Given the description of an element on the screen output the (x, y) to click on. 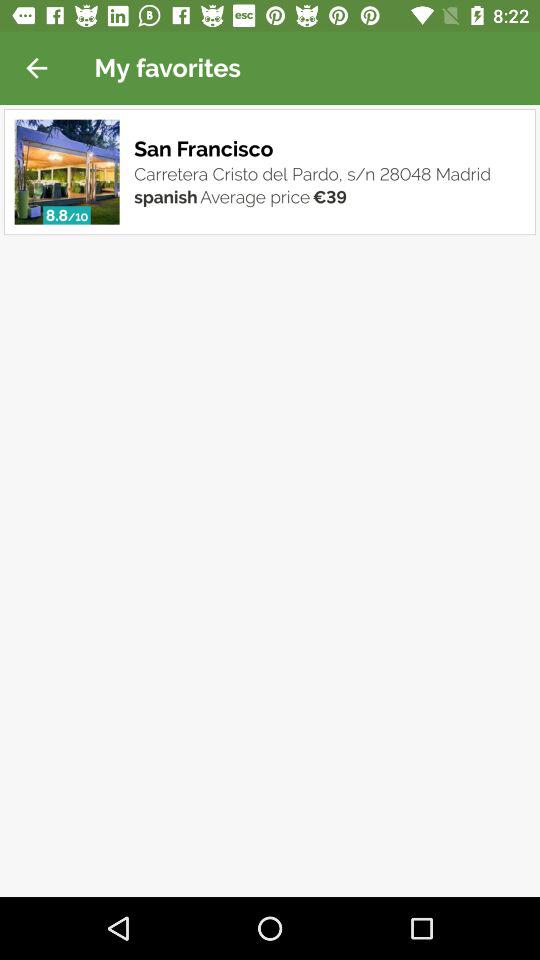
click the item below the carretera cristo del item (165, 195)
